Given the description of an element on the screen output the (x, y) to click on. 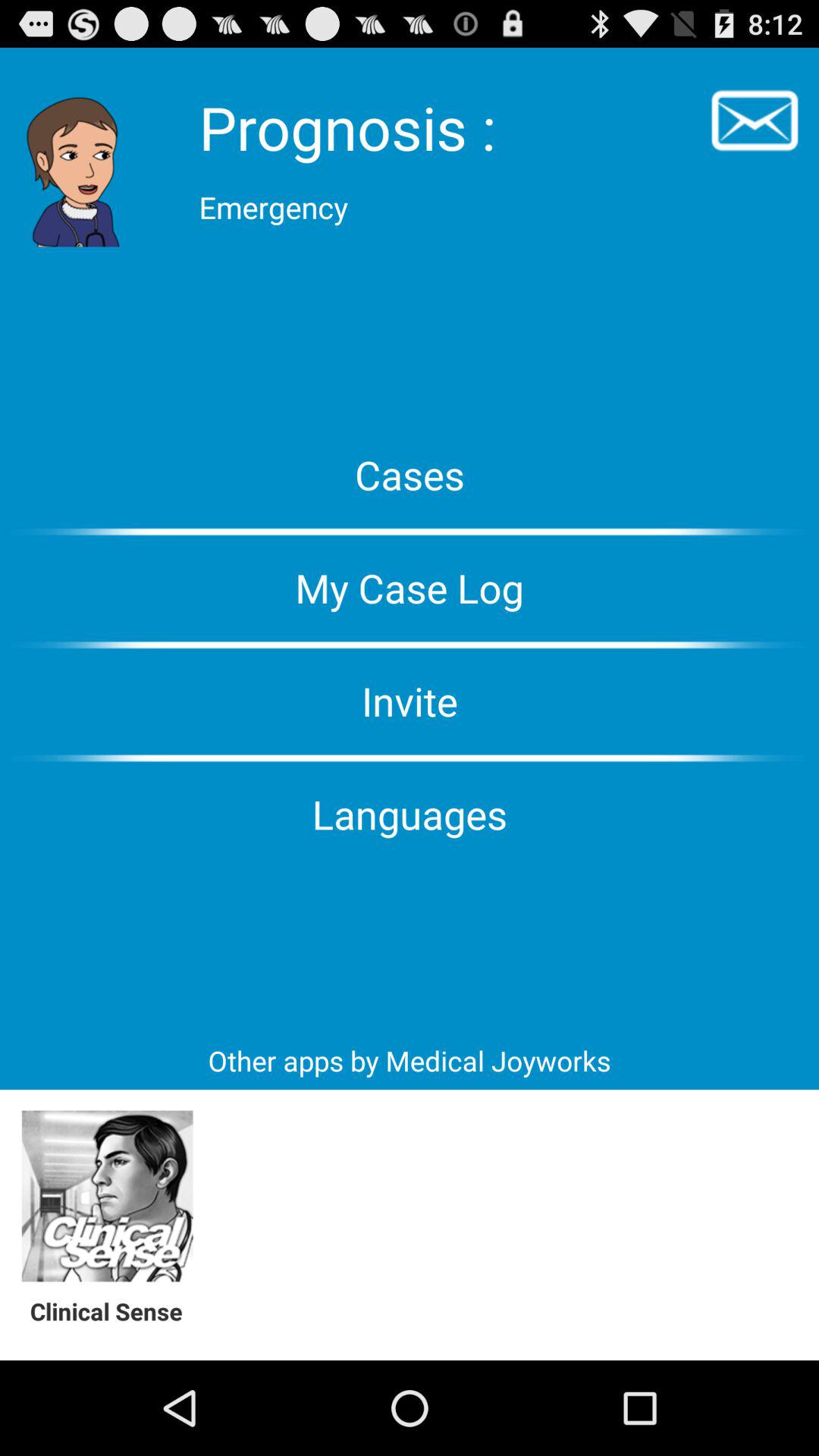
flip to clinical sense app (114, 1311)
